Given the description of an element on the screen output the (x, y) to click on. 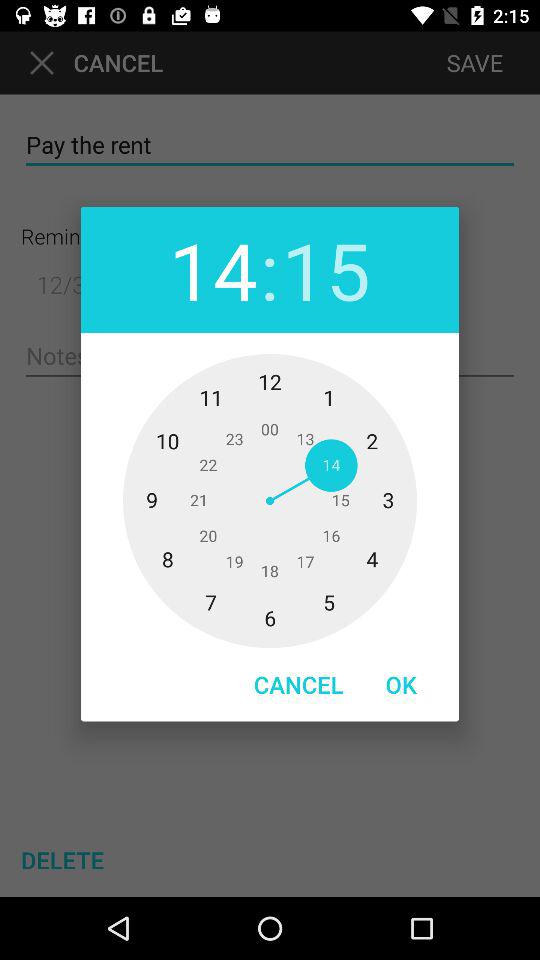
turn on the item next to : item (325, 269)
